Given the description of an element on the screen output the (x, y) to click on. 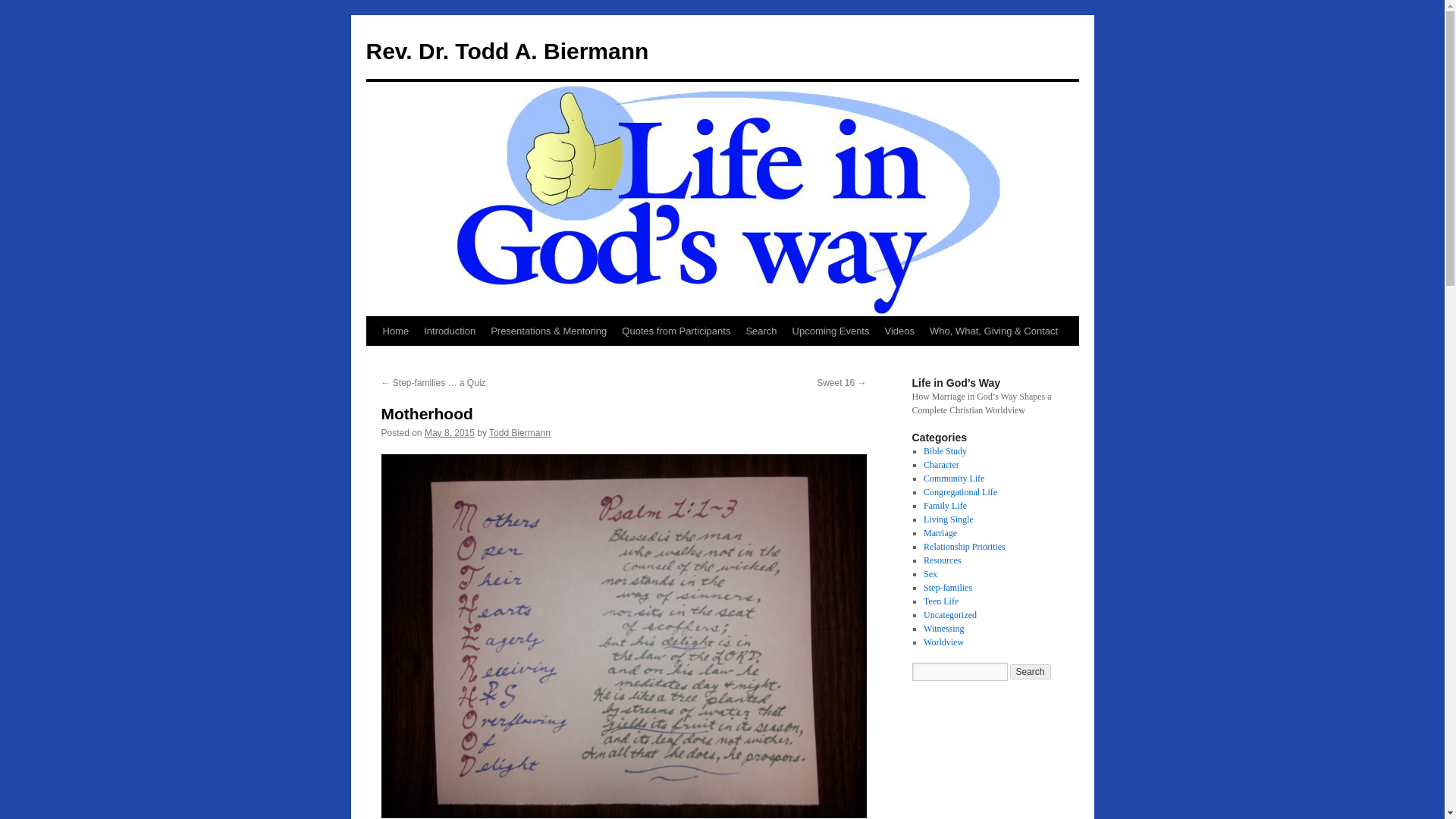
Bible Study (944, 450)
Family Life (944, 505)
Living Single (948, 519)
Rev. Dr. Todd A. Biermann (506, 50)
Relationship Priorities (964, 546)
Quotes from Participants (676, 330)
Sex (930, 573)
Videos (898, 330)
May 8, 2015 (449, 432)
Congregational Life (960, 491)
